Given the description of an element on the screen output the (x, y) to click on. 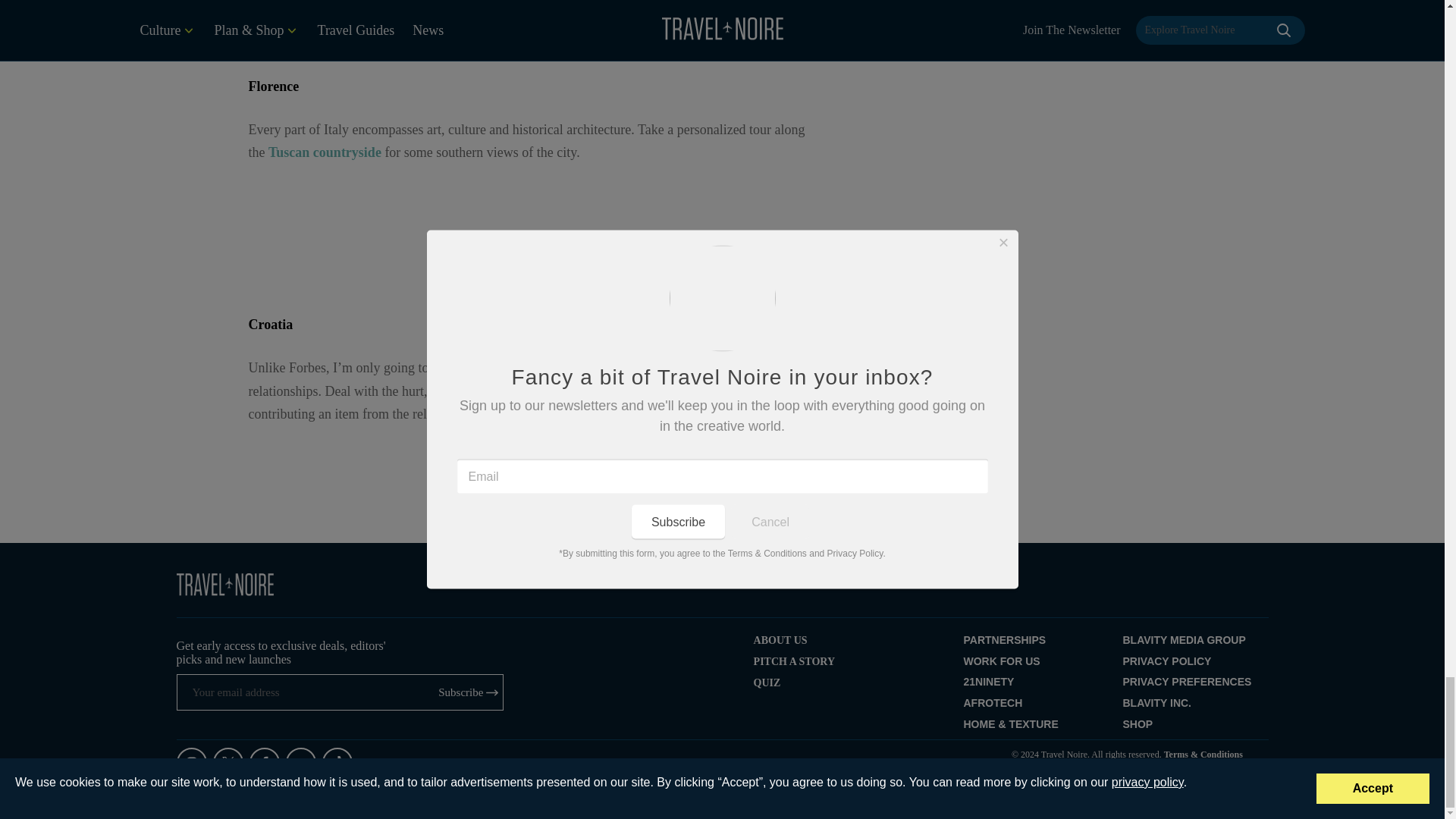
Travel Noire (224, 584)
